Given the description of an element on the screen output the (x, y) to click on. 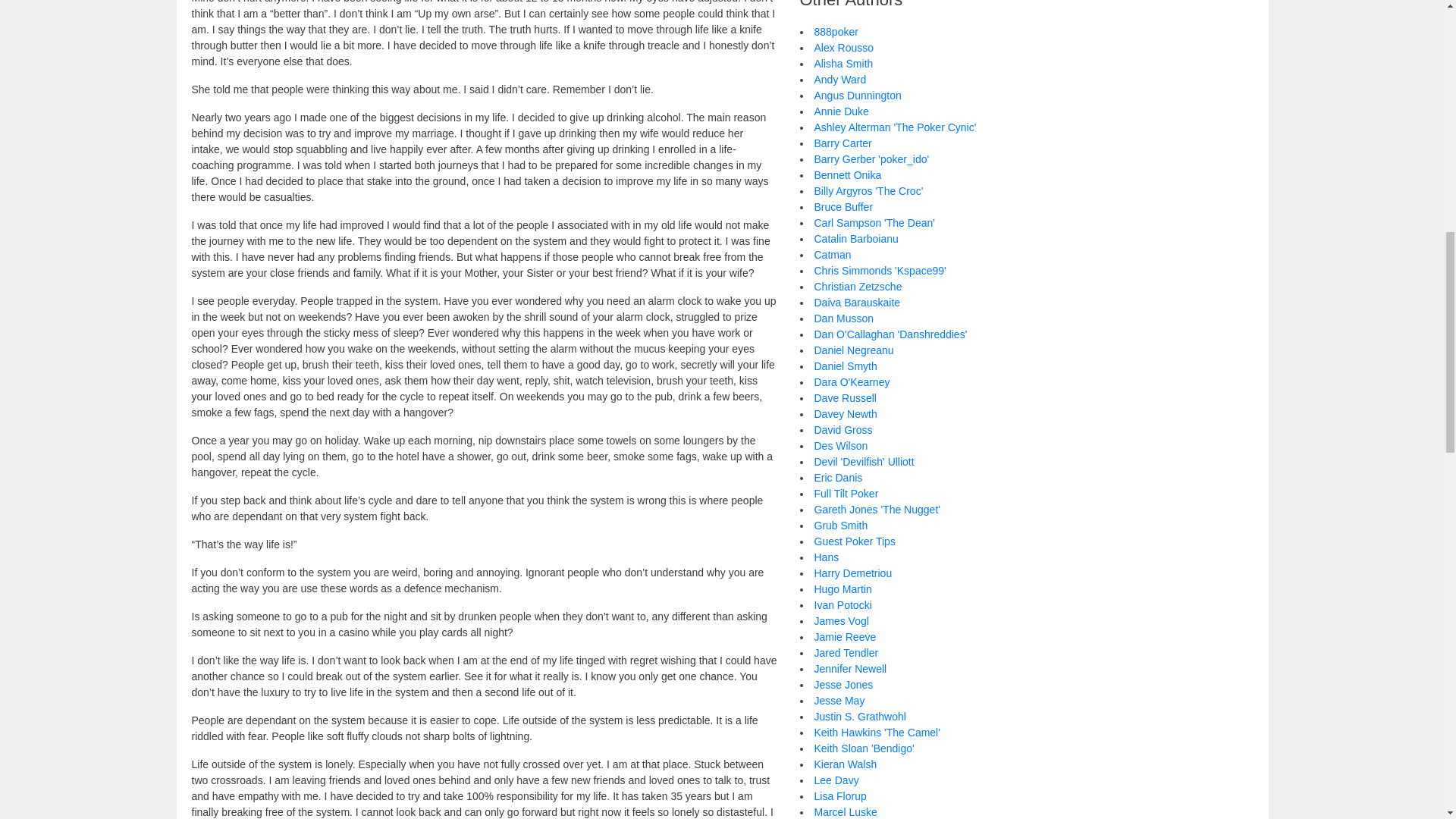
Posts by Angus Dunnington (857, 95)
Posts by Bennett Onika (847, 174)
Posts by Alisha Smith (843, 63)
Posts by 888poker (836, 31)
Posts by Ashley Alterman 'The Poker Cynic' (894, 127)
Posts by Catalin Barboianu (855, 238)
Posts by Alex Rousso (844, 47)
Posts by Annie Duke (841, 111)
Posts by Bruce Buffer (843, 206)
Posts by Andy Ward (839, 79)
